Given the description of an element on the screen output the (x, y) to click on. 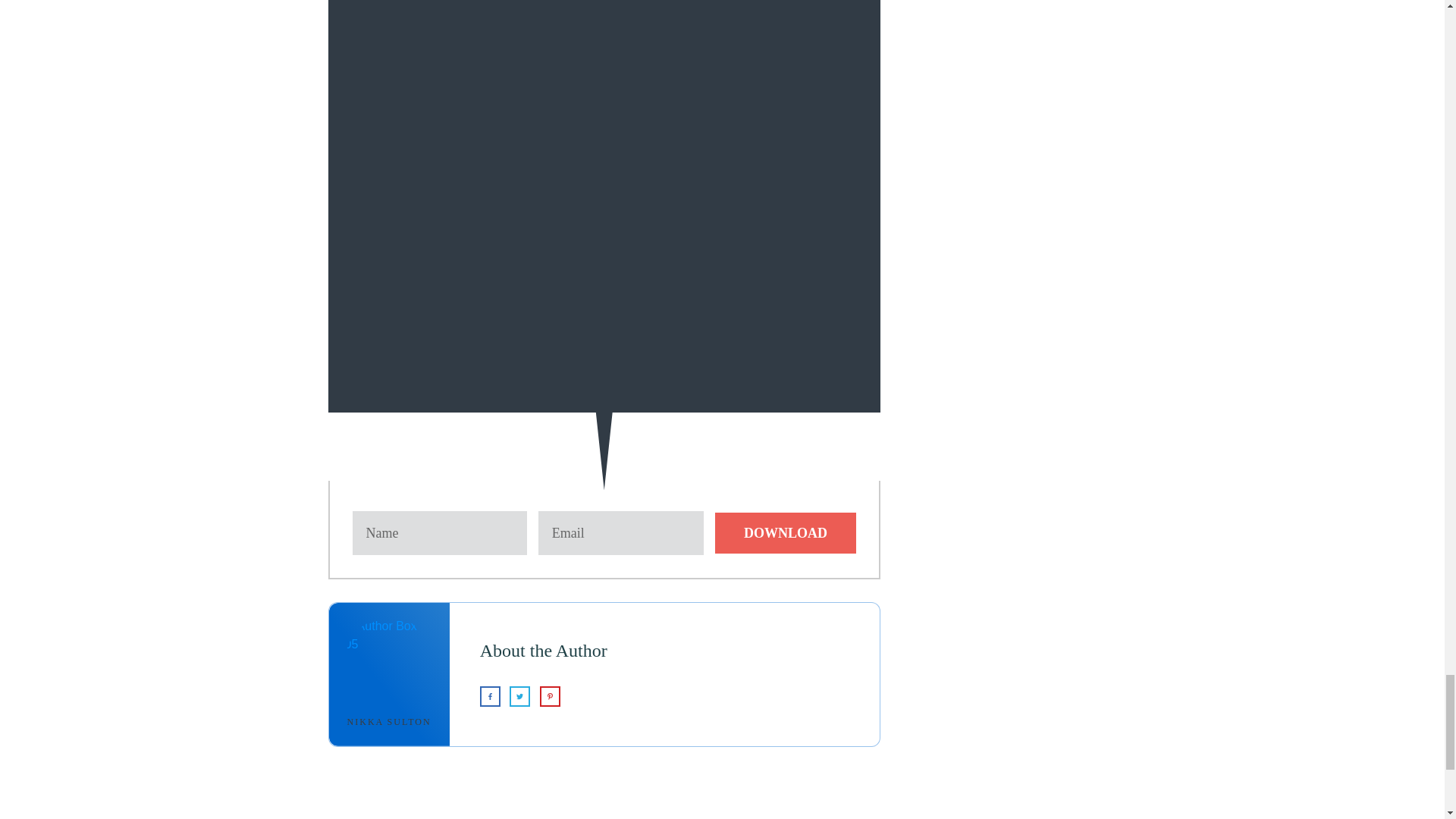
Author Box 05 (389, 661)
Nikka Sulton (388, 721)
NIKKA SULTON (388, 721)
DOWNLOAD (785, 532)
